Given the description of an element on the screen output the (x, y) to click on. 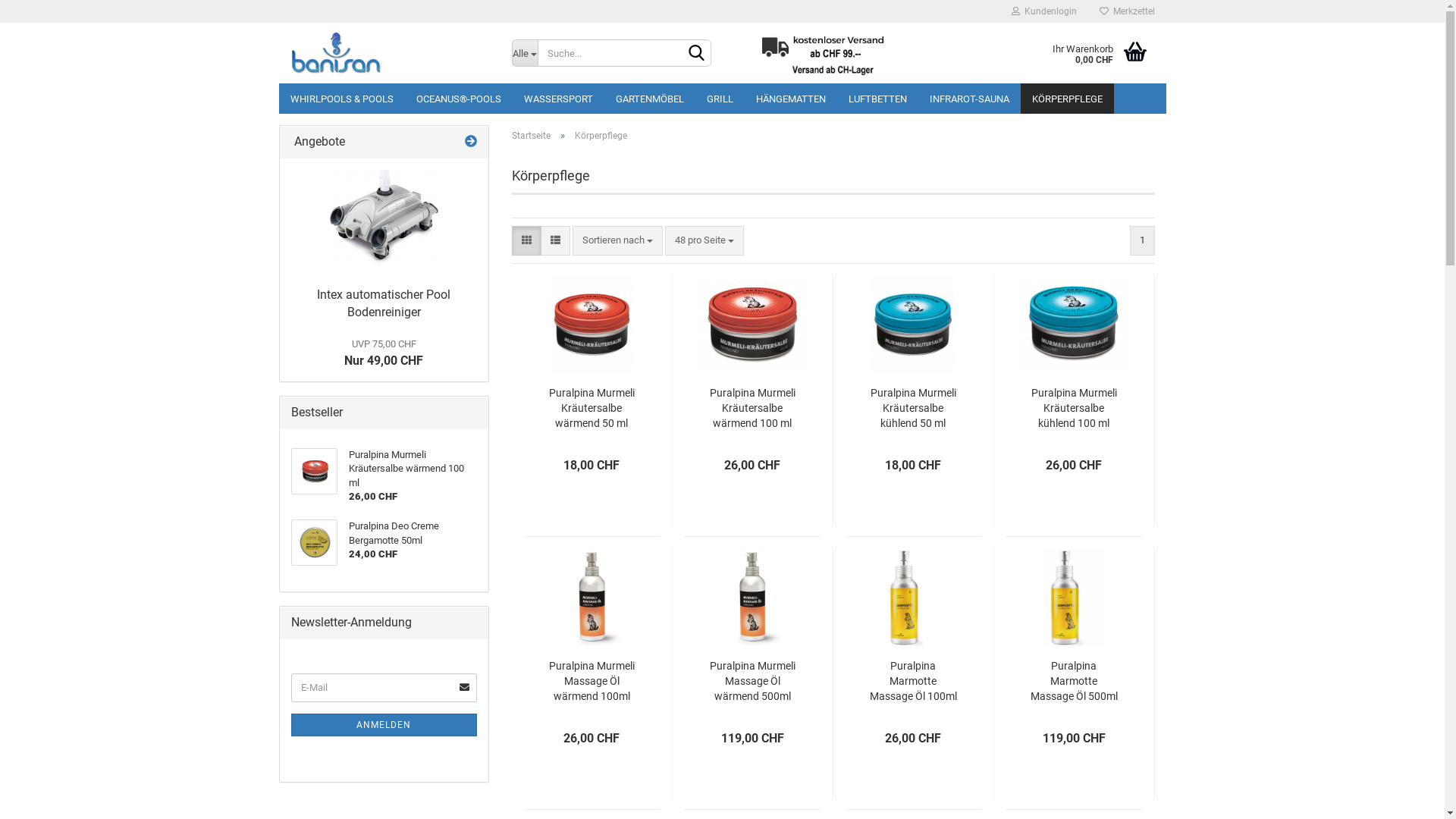
Sortieren nach Element type: text (617, 240)
INFRAROT-SAUNA Element type: text (968, 98)
Startseite Element type: text (530, 135)
48 pro Seite Element type: text (704, 240)
 Kundenlogin Element type: text (1043, 11)
ANMELDEN Element type: text (384, 724)
UVP 75,00 CHF
Nur 49,00 CHF Element type: text (383, 351)
Ihr Warenkorb
0,00 CHF Element type: text (1055, 52)
Intex automatischer Pool Bodenreiniger Element type: hover (383, 218)
LUFTBETTEN Element type: text (877, 98)
 Merkzettel Element type: text (1126, 11)
Alle Element type: text (524, 52)
WASSERSPORT Element type: text (558, 98)
Puralpina Deo Creme Bergamotte 50ml
24,00 CHF Element type: text (383, 542)
GRILL Element type: text (718, 98)
Angebote Element type: hover (470, 141)
WHIRLPOOLS & POOLS Element type: text (341, 98)
Intex automatischer Pool Bodenreiniger Element type: text (383, 303)
Anmelden Element type: text (960, 185)
